Given the description of an element on the screen output the (x, y) to click on. 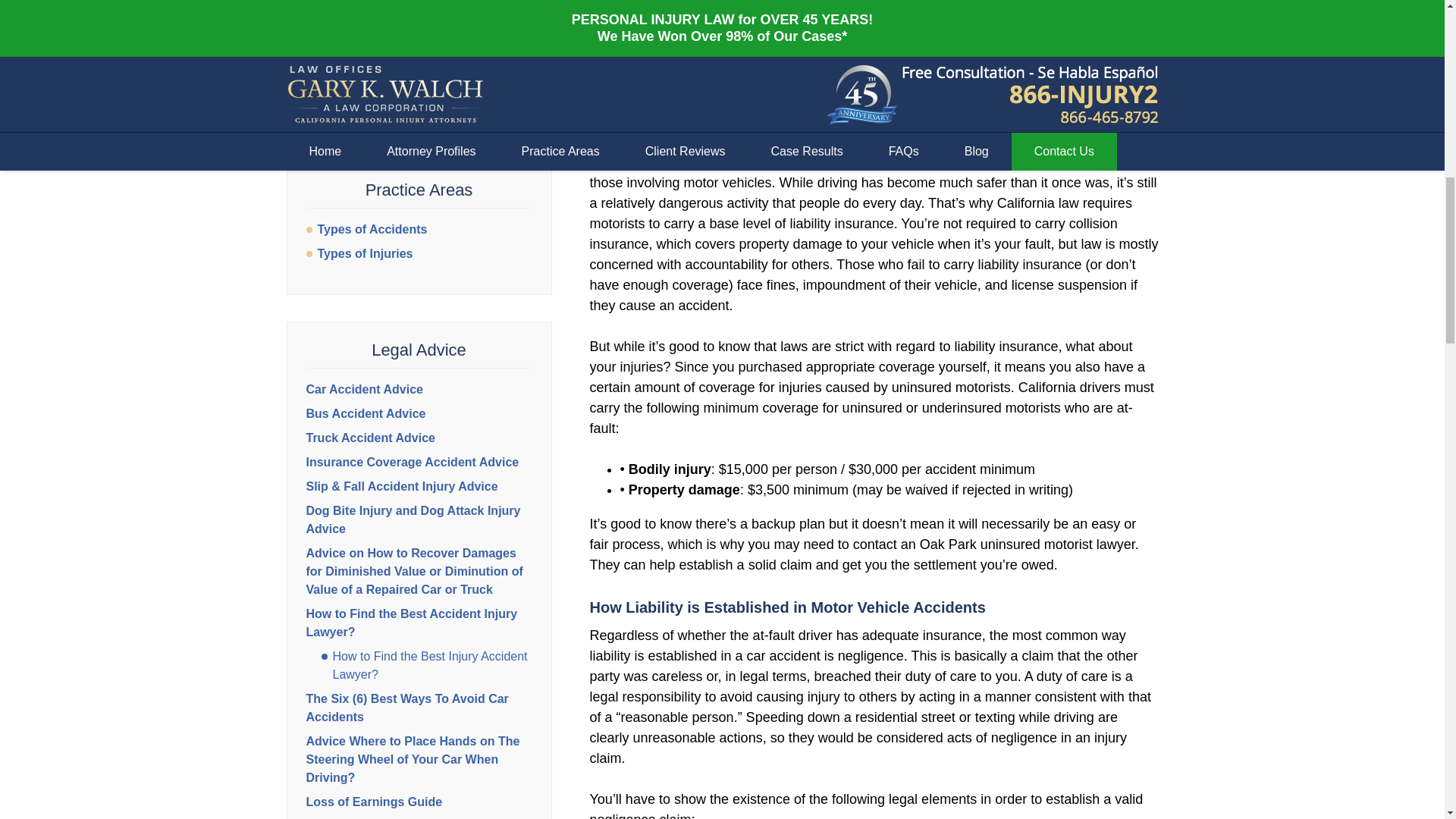
Car Accident Advice (364, 389)
Types of Accidents (418, 229)
Types of Injuries (418, 253)
Bus Accident Advice (365, 413)
Legal Advice (418, 349)
experienced Oak Park uninsured motorist lawyer (869, 19)
CONTACT US NOW (418, 96)
Practice Areas (419, 189)
